Given the description of an element on the screen output the (x, y) to click on. 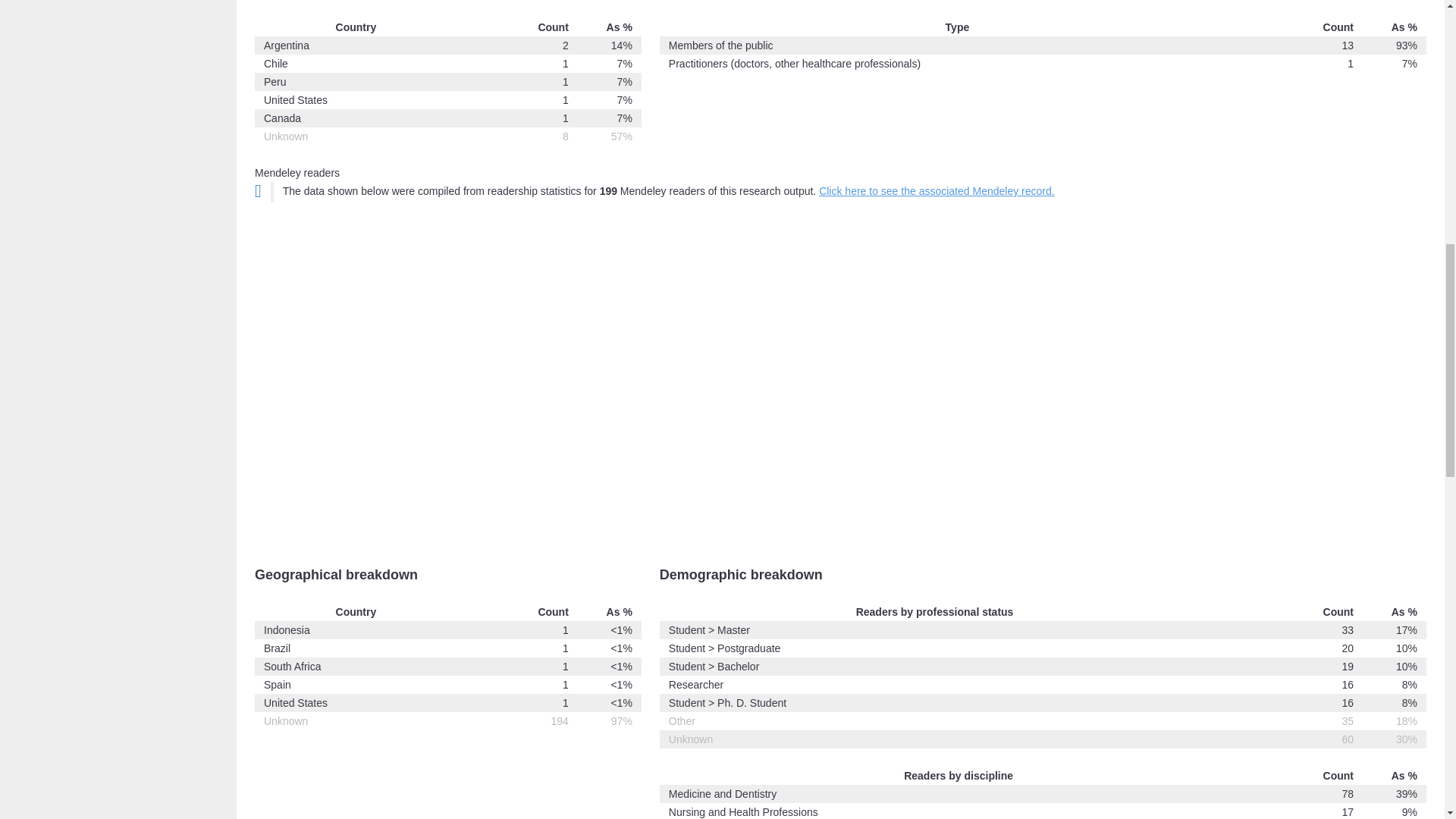
About this data (258, 190)
Click here to see the associated Mendeley record. (936, 191)
